Given the description of an element on the screen output the (x, y) to click on. 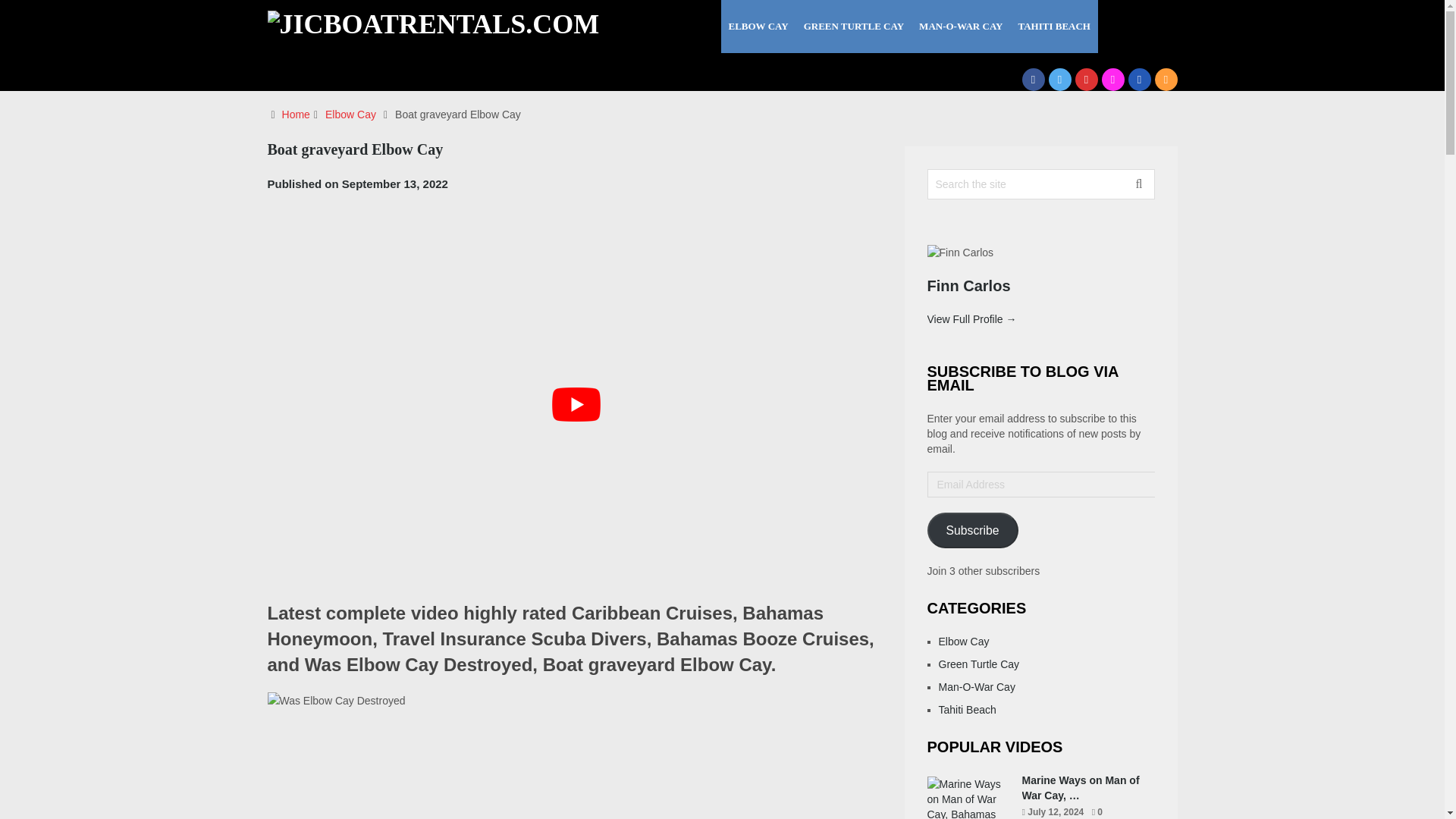
TAHITI BEACH (1053, 26)
Home (296, 114)
MAN-O-WAR CAY (960, 26)
ELBOW CAY (757, 26)
Elbow Cay (349, 114)
GREEN TURTLE CAY (853, 26)
